Given the description of an element on the screen output the (x, y) to click on. 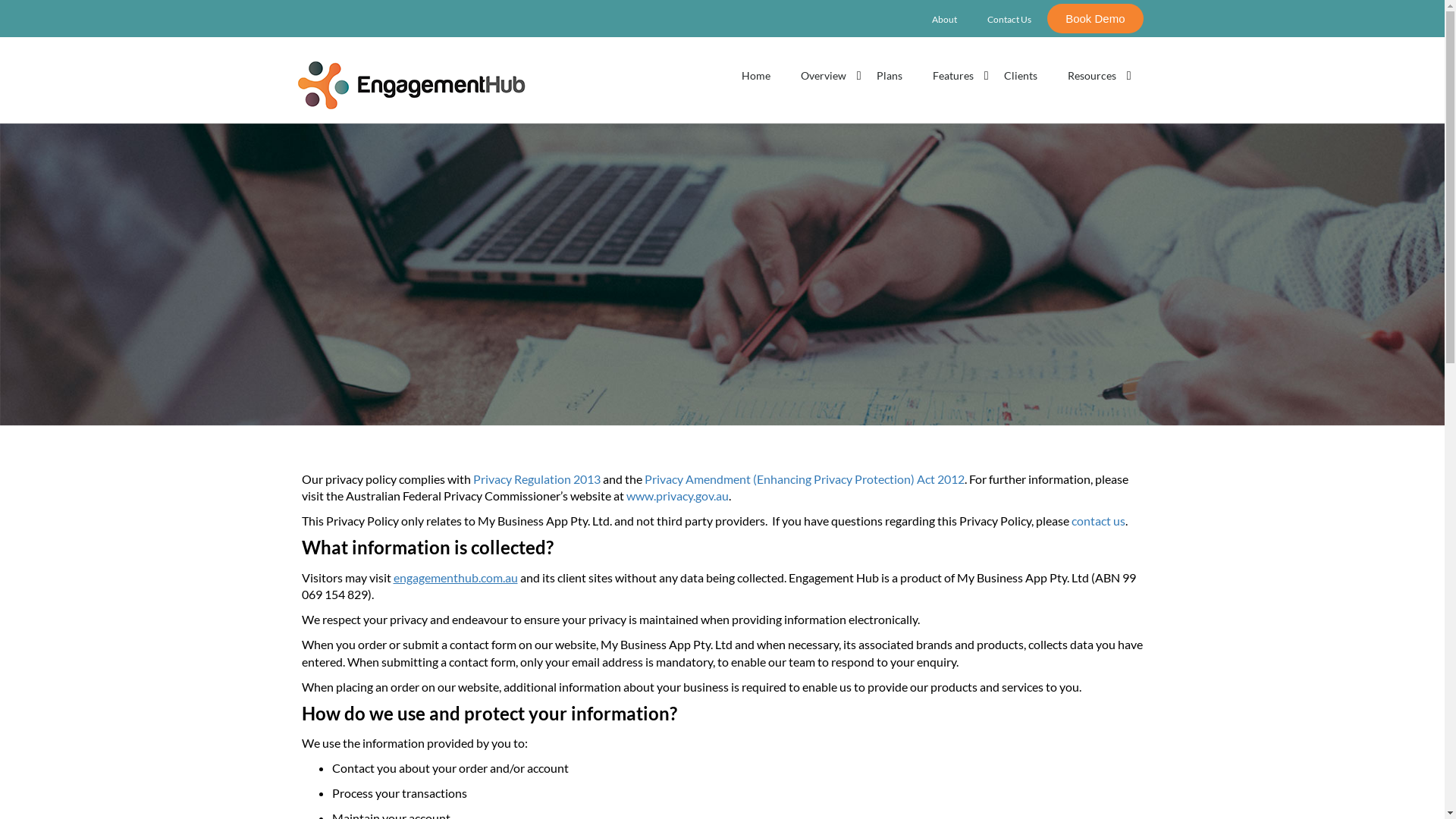
Resources Element type: text (1091, 74)
Privacy Regulation 2013 Element type: text (536, 478)
Home Element type: text (755, 74)
Book Demo Element type: text (1094, 18)
About Element type: text (943, 19)
Engagement Hub Element type: hover (410, 84)
contact us Element type: text (1097, 520)
Privacy Amendment (Enhancing Privacy Protection) Act 2012 Element type: text (804, 478)
Overview Element type: text (823, 74)
Clients Element type: text (1020, 74)
engagementhub.com.au Element type: text (454, 577)
Features Element type: text (952, 74)
Contact Us Element type: text (1008, 19)
Plans Element type: text (889, 74)
www.privacy.gov.au Element type: text (677, 495)
